Given the description of an element on the screen output the (x, y) to click on. 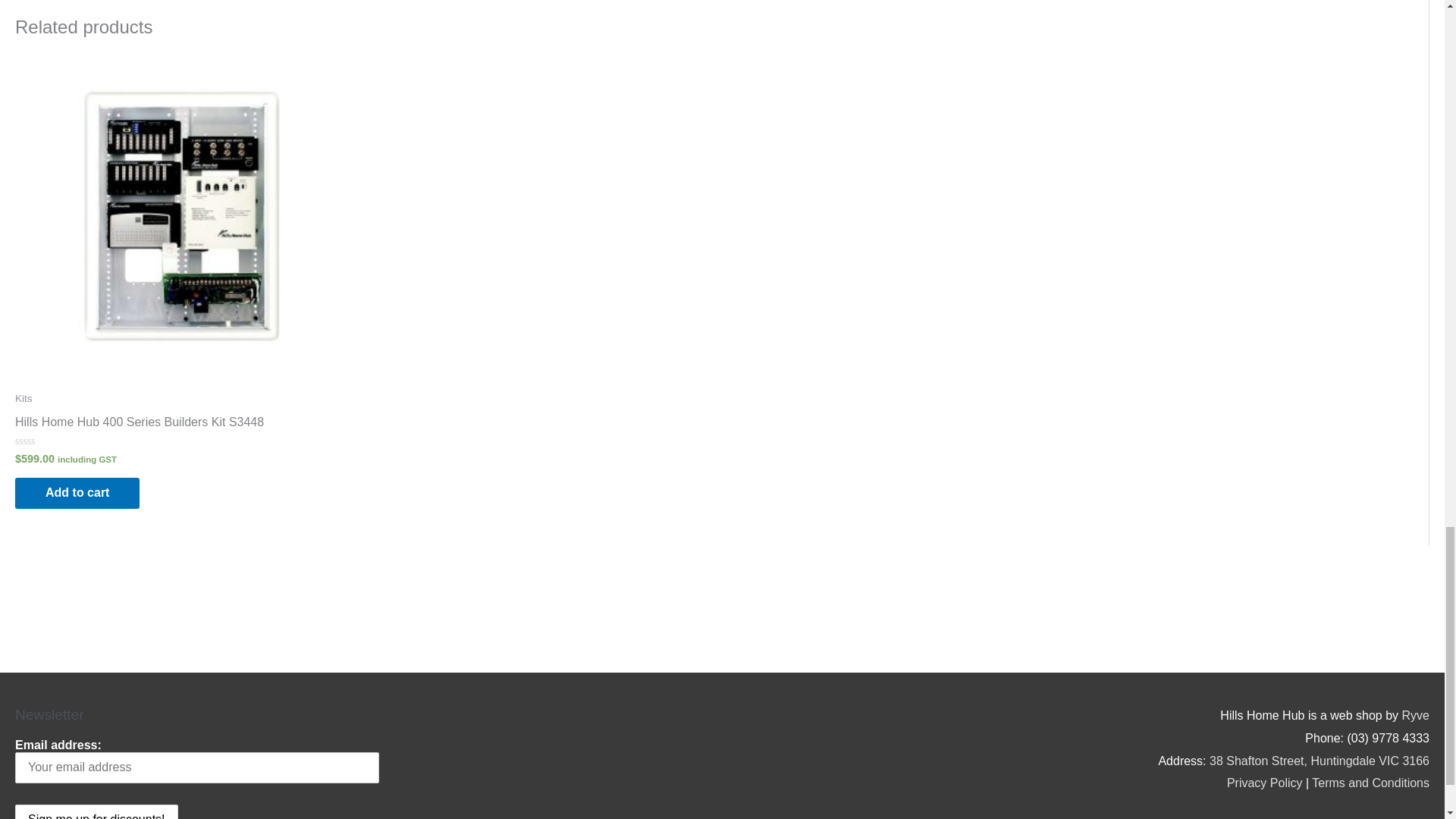
Ryve (1415, 715)
Sign me up for discounts! (95, 811)
Add to cart (76, 492)
Terms and Conditions (1370, 782)
Sign me up for discounts! (95, 811)
Privacy Policy (1265, 782)
38 Shafton Street, Huntingdale VIC 3166 (1319, 760)
Hills Home Hub 400 Series Builders Kit S3448 (138, 425)
